Given the description of an element on the screen output the (x, y) to click on. 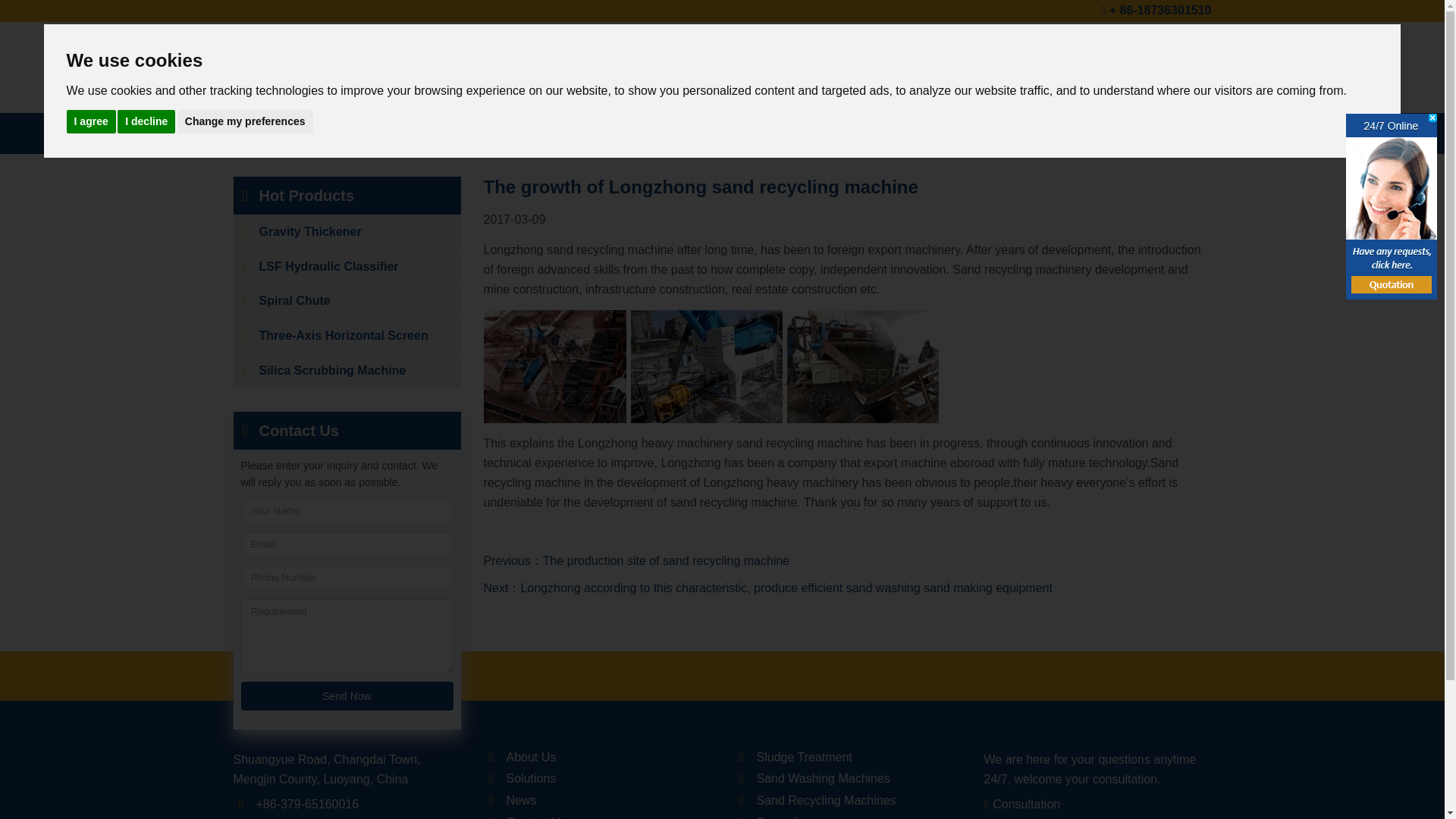
Gravity Thickener (346, 232)
Search (1006, 78)
Sludge Treatment (325, 133)
News (1068, 44)
Send Now (346, 695)
Send Now (346, 695)
Solutions (1122, 44)
The production site of sand recycling machine (666, 559)
About (962, 44)
Contact Us (346, 430)
Three-Axis Horizontal Screen (346, 335)
Search (1161, 78)
Home (920, 44)
Contact (1183, 44)
LSF Hydraulic Classifier (346, 267)
